Given the description of an element on the screen output the (x, y) to click on. 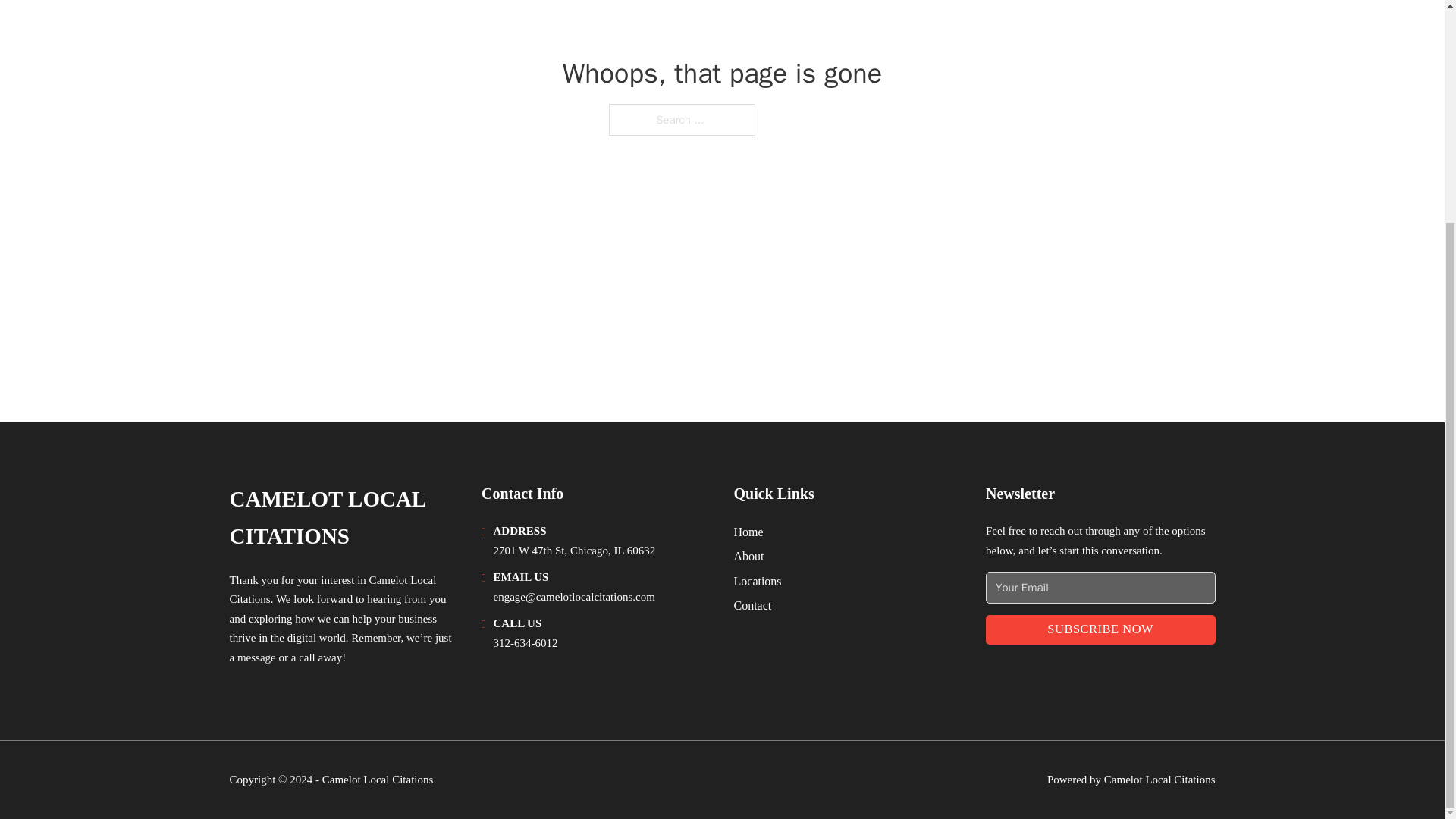
Home (747, 531)
Contact (752, 605)
About (748, 556)
CAMELOT LOCAL CITATIONS (343, 518)
312-634-6012 (525, 643)
SUBSCRIBE NOW (1100, 629)
Locations (757, 580)
